Given the description of an element on the screen output the (x, y) to click on. 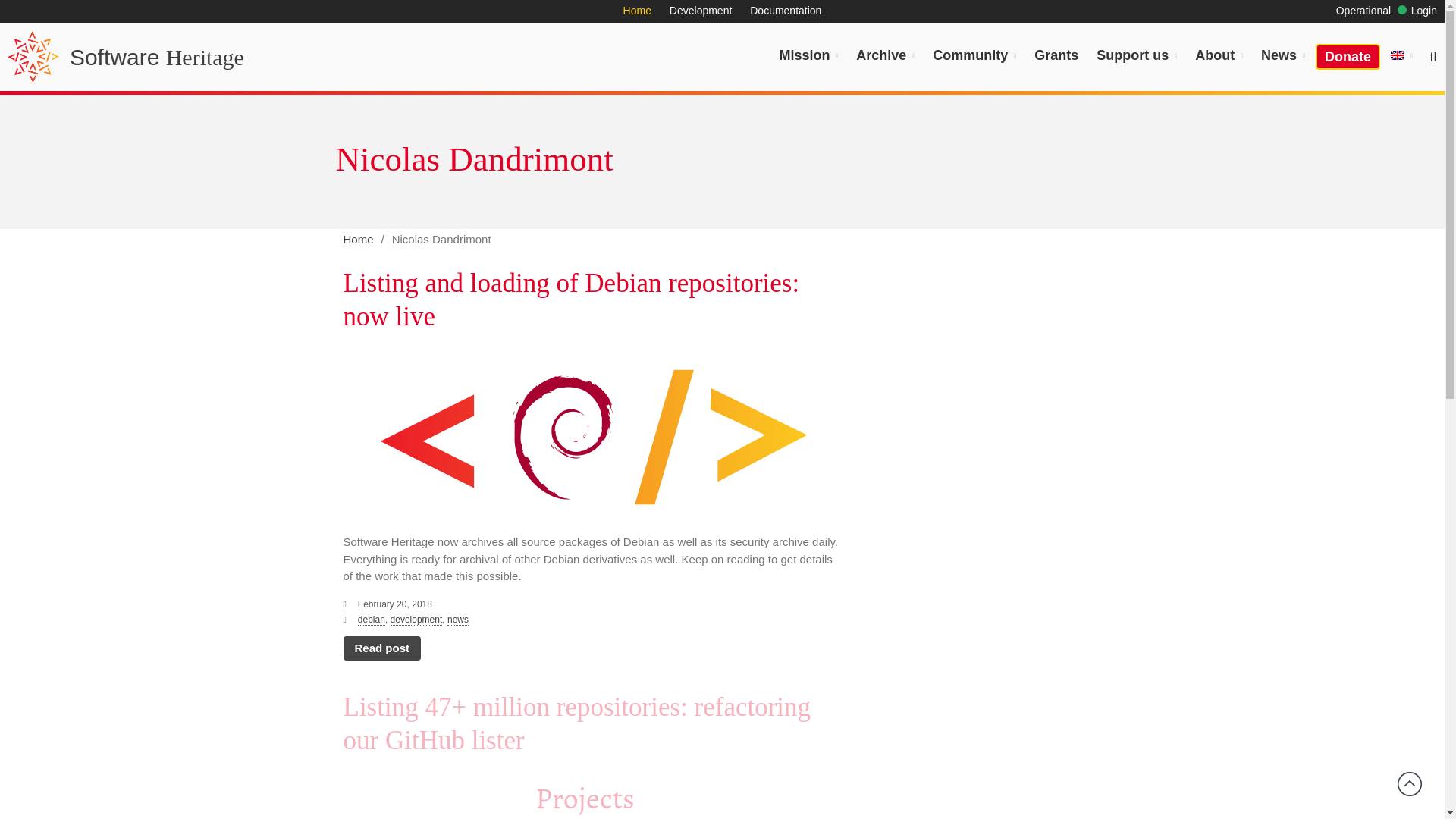
View all posts tagged development (416, 619)
View all posts tagged debian (371, 619)
English (1402, 55)
View all posts tagged news (457, 619)
